Given the description of an element on the screen output the (x, y) to click on. 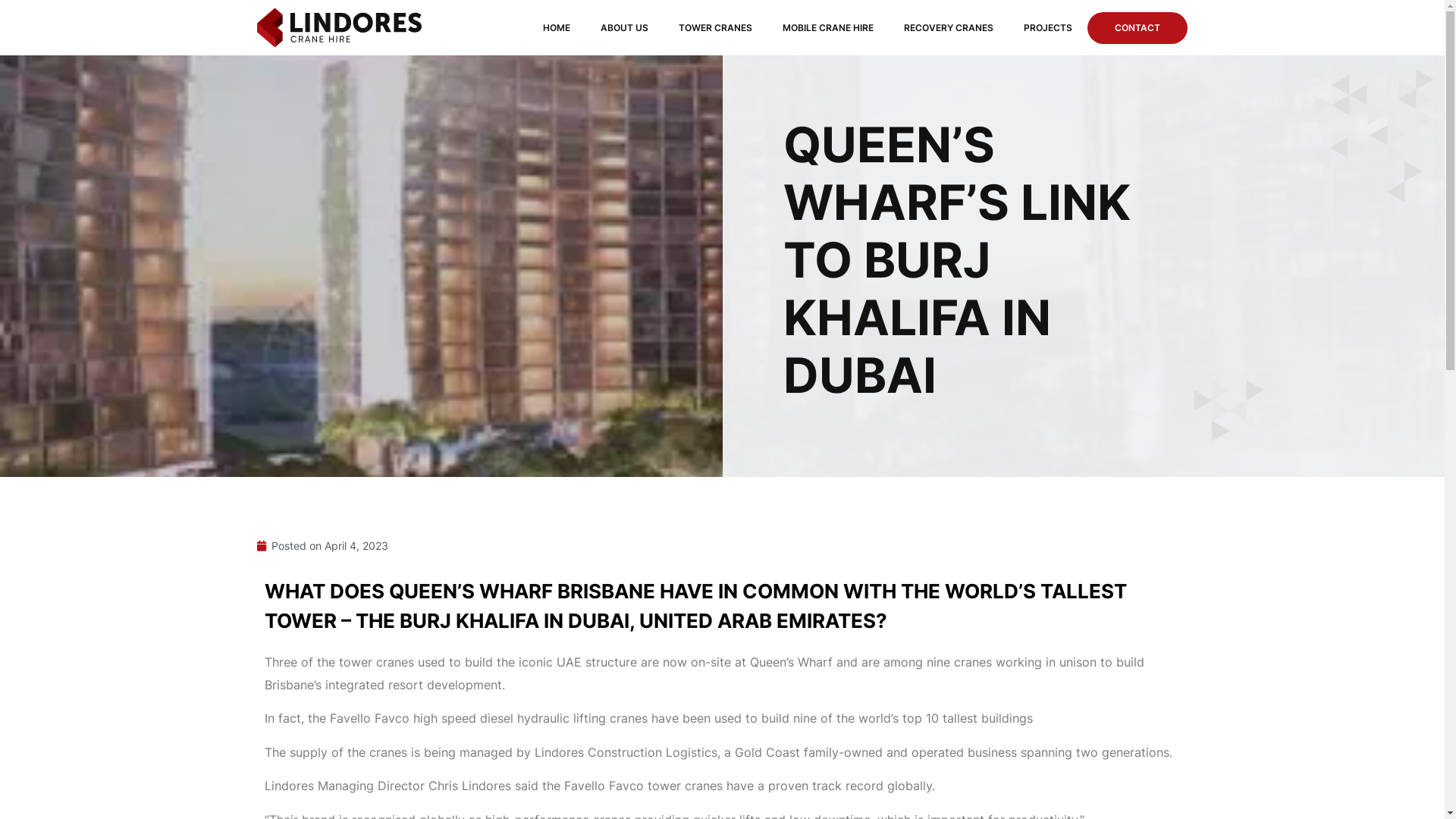
MOBILE CRANE HIRE Element type: text (827, 27)
CONTACT Element type: text (1137, 27)
Posted on April 4, 2023 Element type: text (321, 545)
HOME Element type: text (556, 27)
TOWER CRANES Element type: text (715, 27)
PROJECTS Element type: text (1047, 27)
RECOVERY CRANES Element type: text (948, 27)
ABOUT US Element type: text (624, 27)
